Given the description of an element on the screen output the (x, y) to click on. 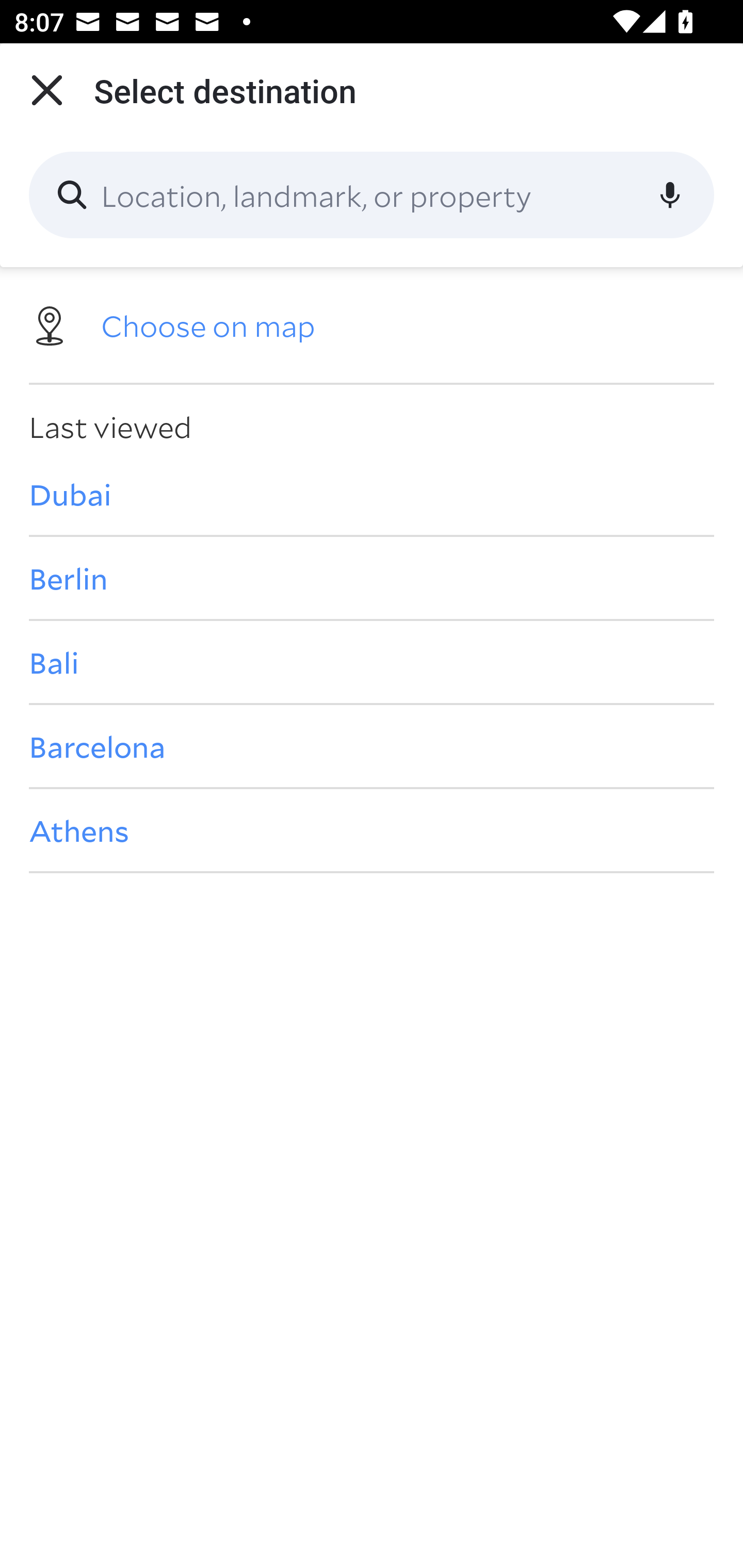
Location, landmark, or property (371, 195)
Choose on map (371, 324)
Dubai (371, 493)
Berlin (371, 577)
Bali (371, 661)
Barcelona (371, 746)
Athens (371, 829)
